Given the description of an element on the screen output the (x, y) to click on. 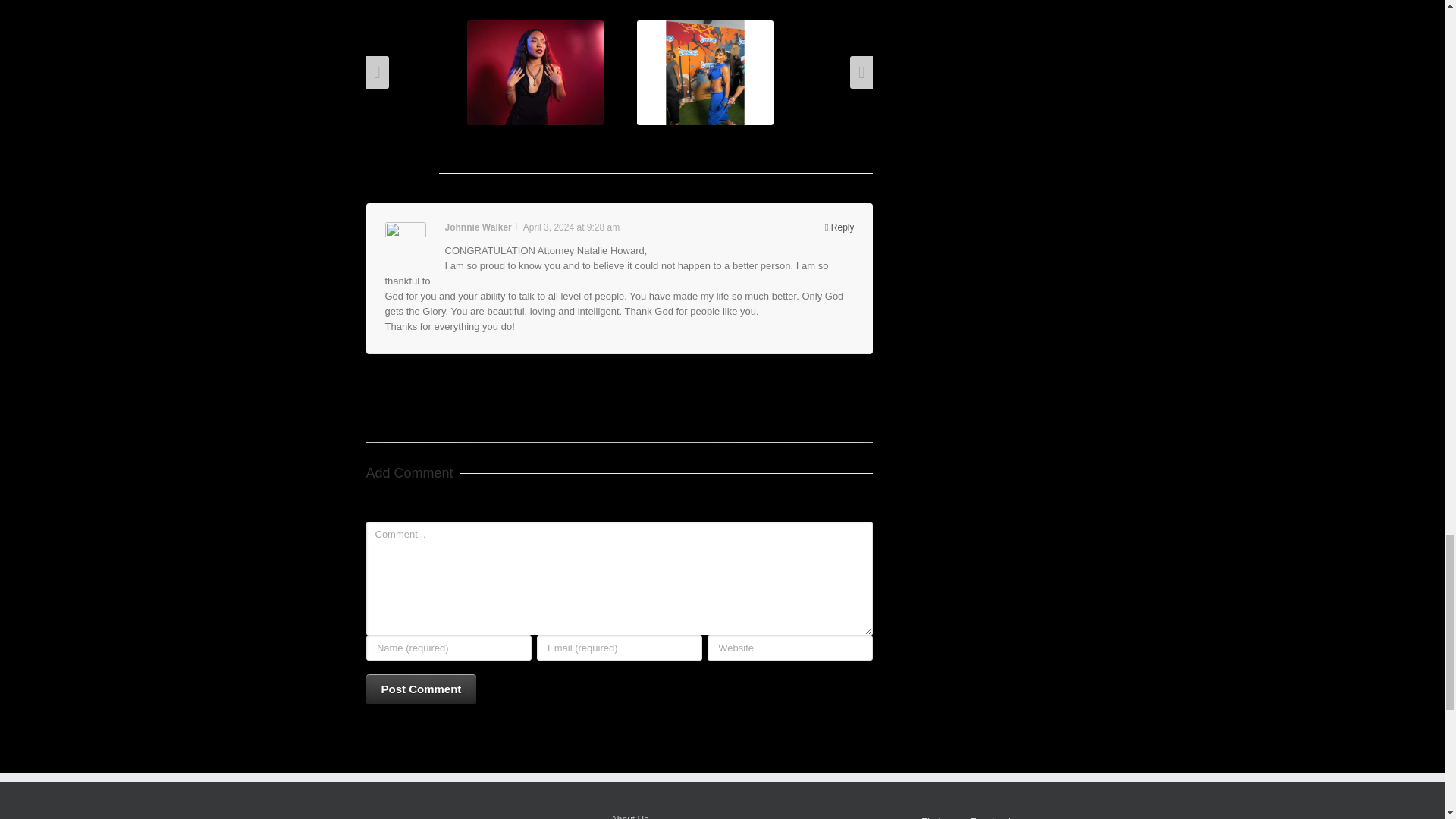
Post Comment (420, 689)
